Given the description of an element on the screen output the (x, y) to click on. 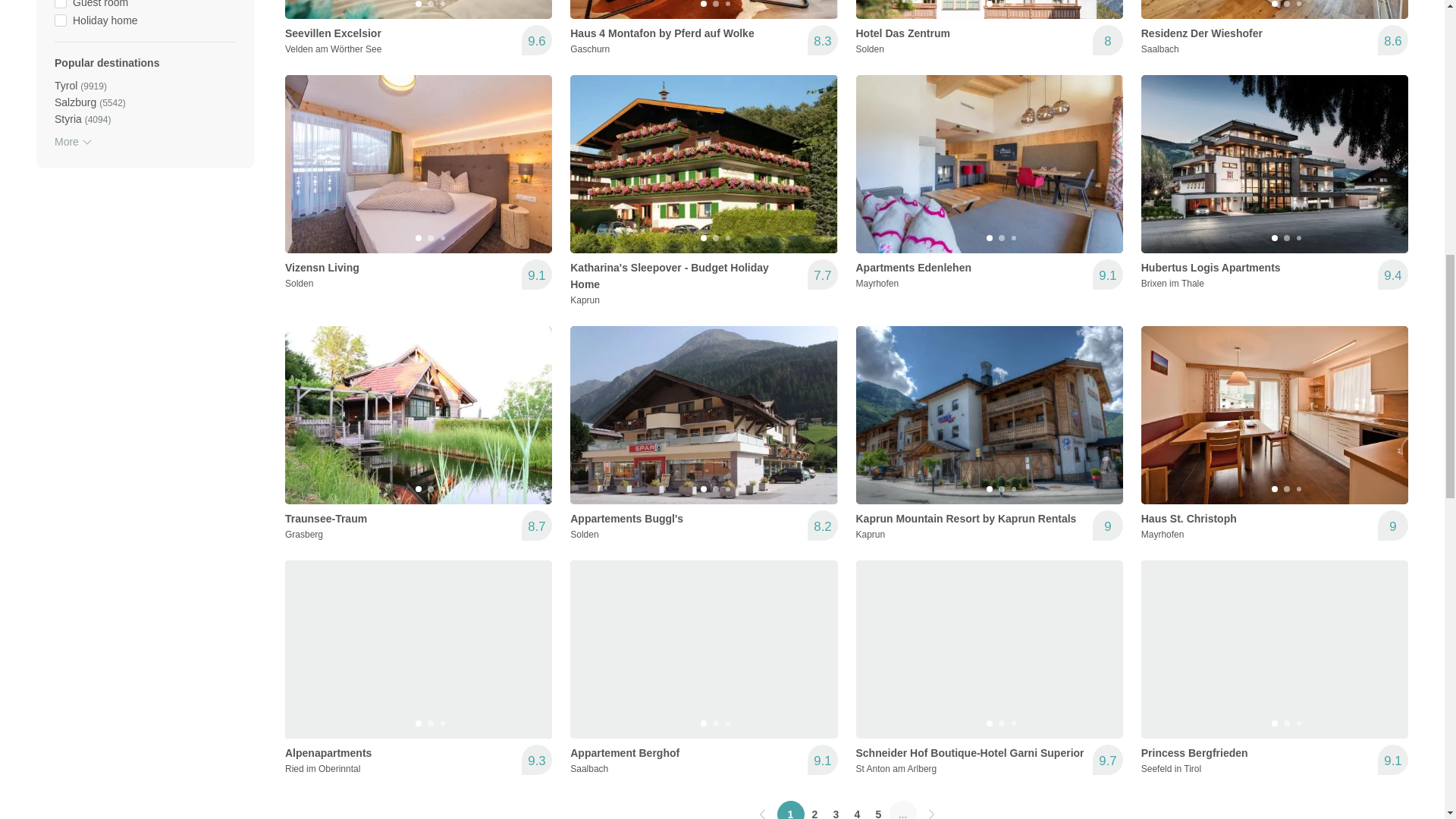
9.1 (1107, 274)
8.7 (536, 525)
7.7 (821, 274)
9.4 (1392, 274)
9.6 (536, 40)
8.3 (821, 40)
8.6 (1392, 40)
9.1 (536, 274)
8 (1107, 40)
